Given the description of an element on the screen output the (x, y) to click on. 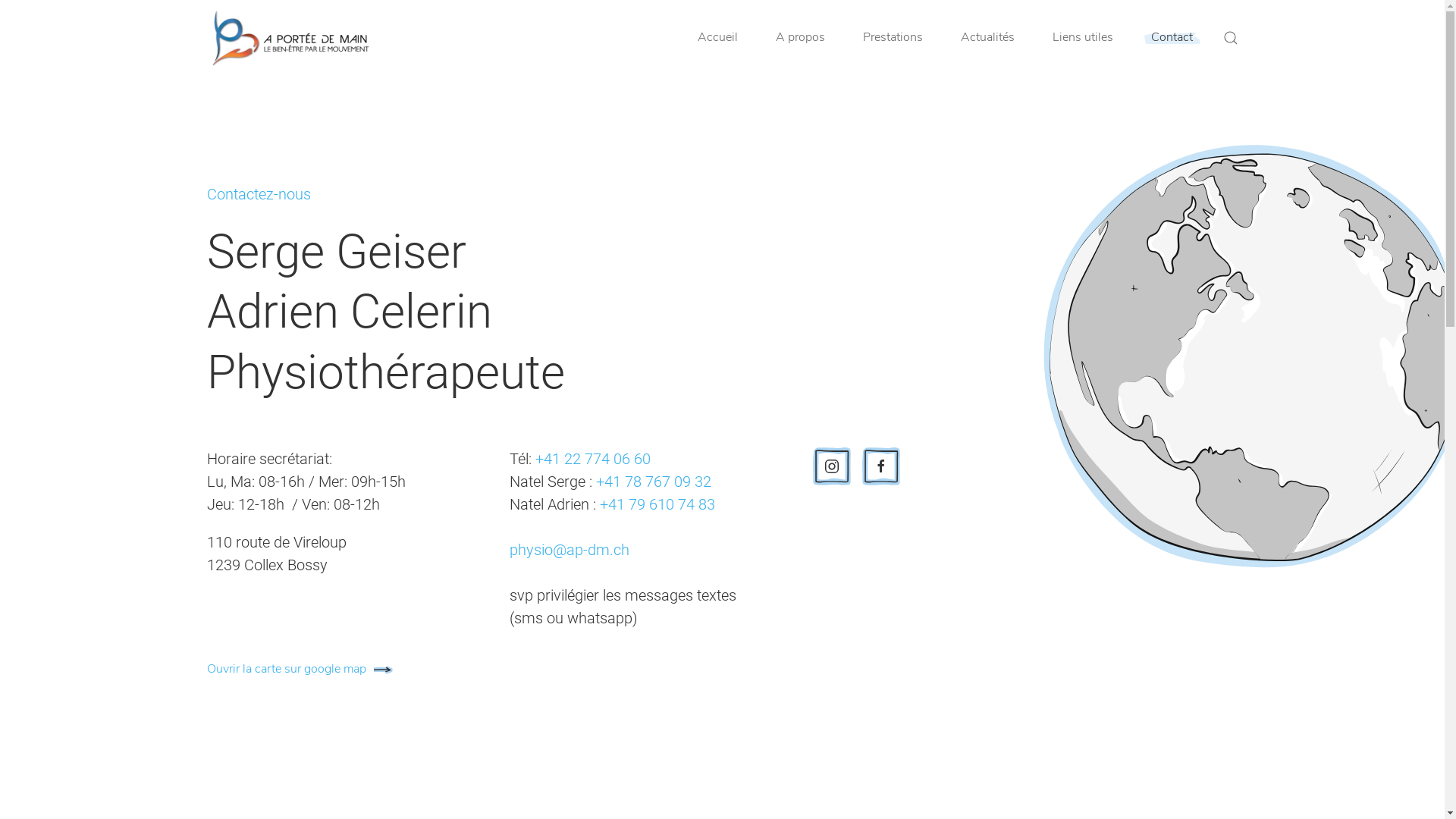
Contact Element type: text (1171, 37)
Accueil Element type: text (717, 37)
+41 22 774 06 60 Element type: text (592, 458)
Prestations Element type: text (892, 37)
physio@ap-dm.ch Element type: text (612, 572)
A propos Element type: text (799, 37)
+41 78 767 09 32 Element type: text (653, 481)
Ouvrir la carte sur google map Element type: text (300, 669)
+41 79 610 74 83 Element type: text (657, 504)
physio@ap-dm.ch Element type: text (569, 549)
Liens utiles Element type: text (1082, 37)
